Given the description of an element on the screen output the (x, y) to click on. 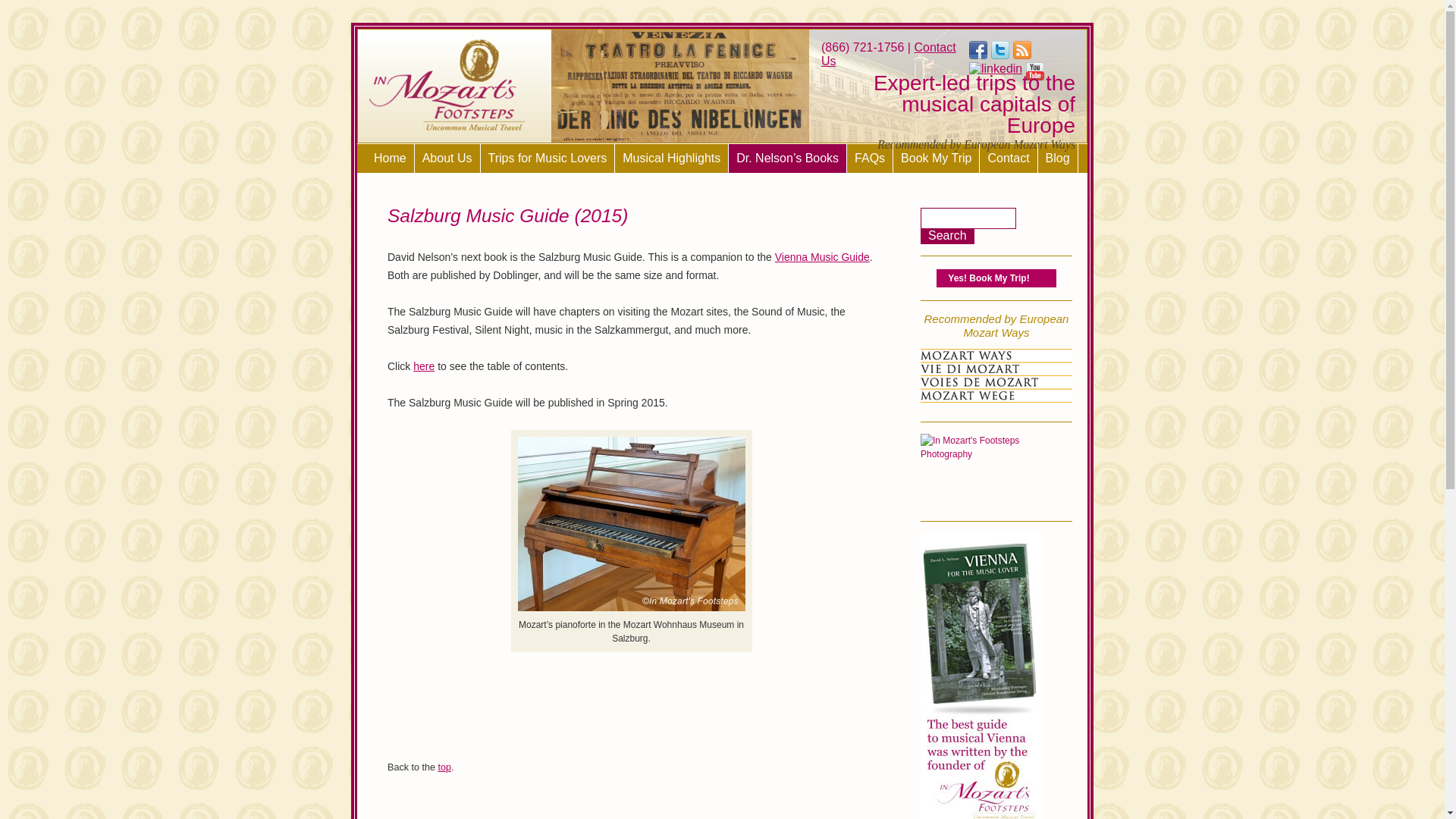
Home (390, 158)
Musical Highlights (671, 158)
Contact Us (888, 53)
About Us (447, 158)
Trips for Music Lovers (547, 158)
Search (947, 236)
